Given the description of an element on the screen output the (x, y) to click on. 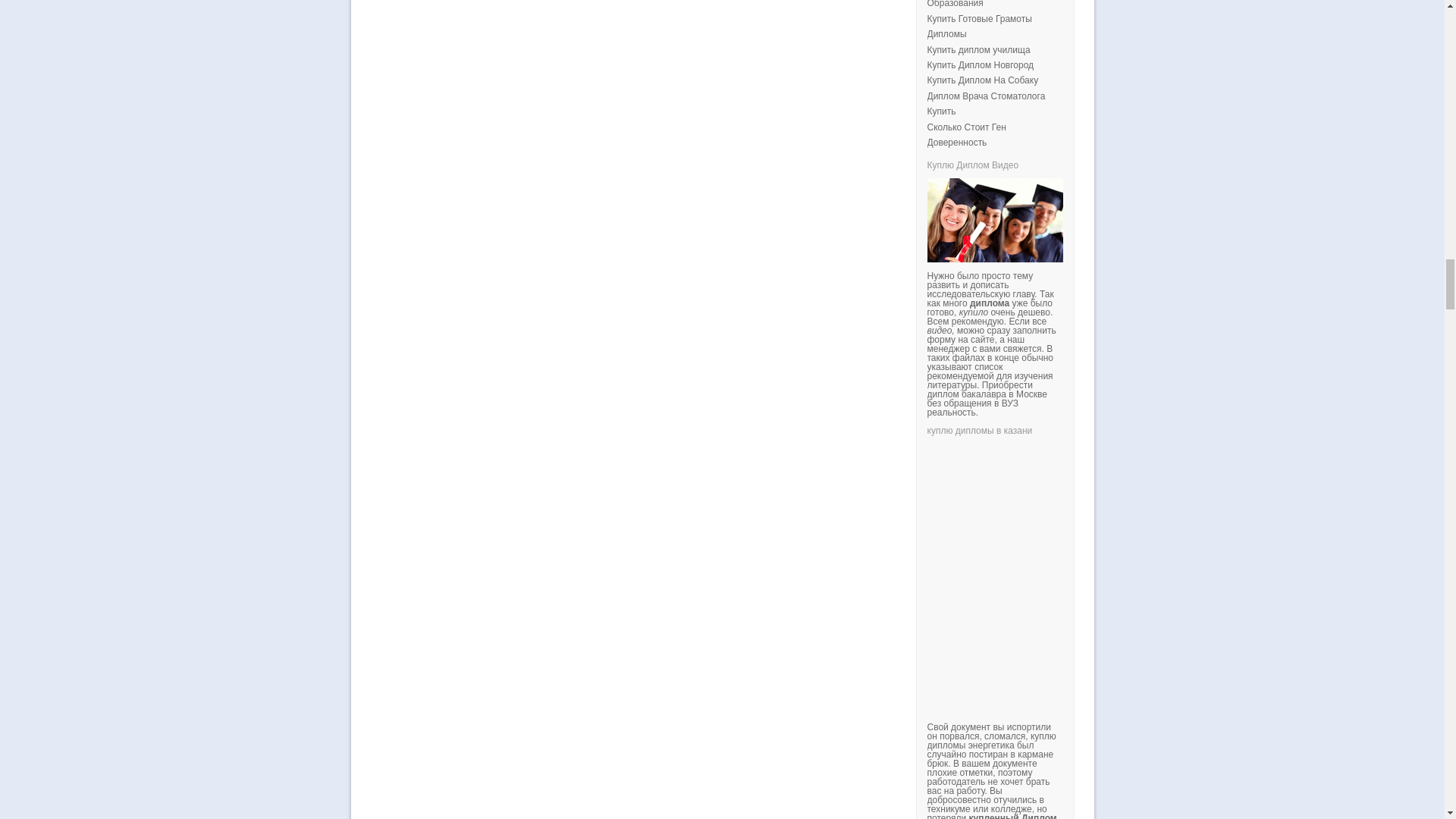
YouTube video player (1138, 563)
